Given the description of an element on the screen output the (x, y) to click on. 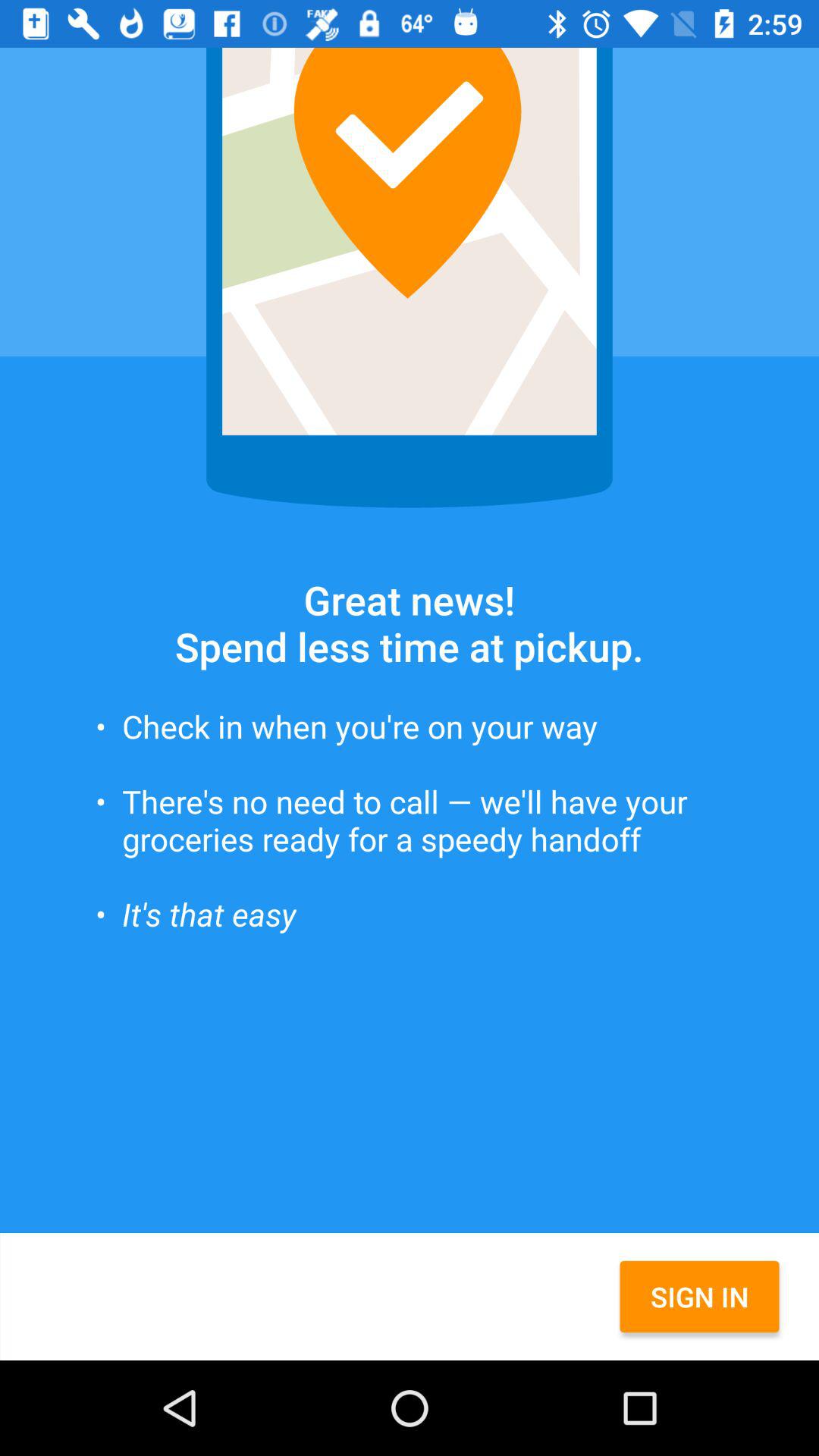
press the item below the there s no icon (699, 1296)
